Given the description of an element on the screen output the (x, y) to click on. 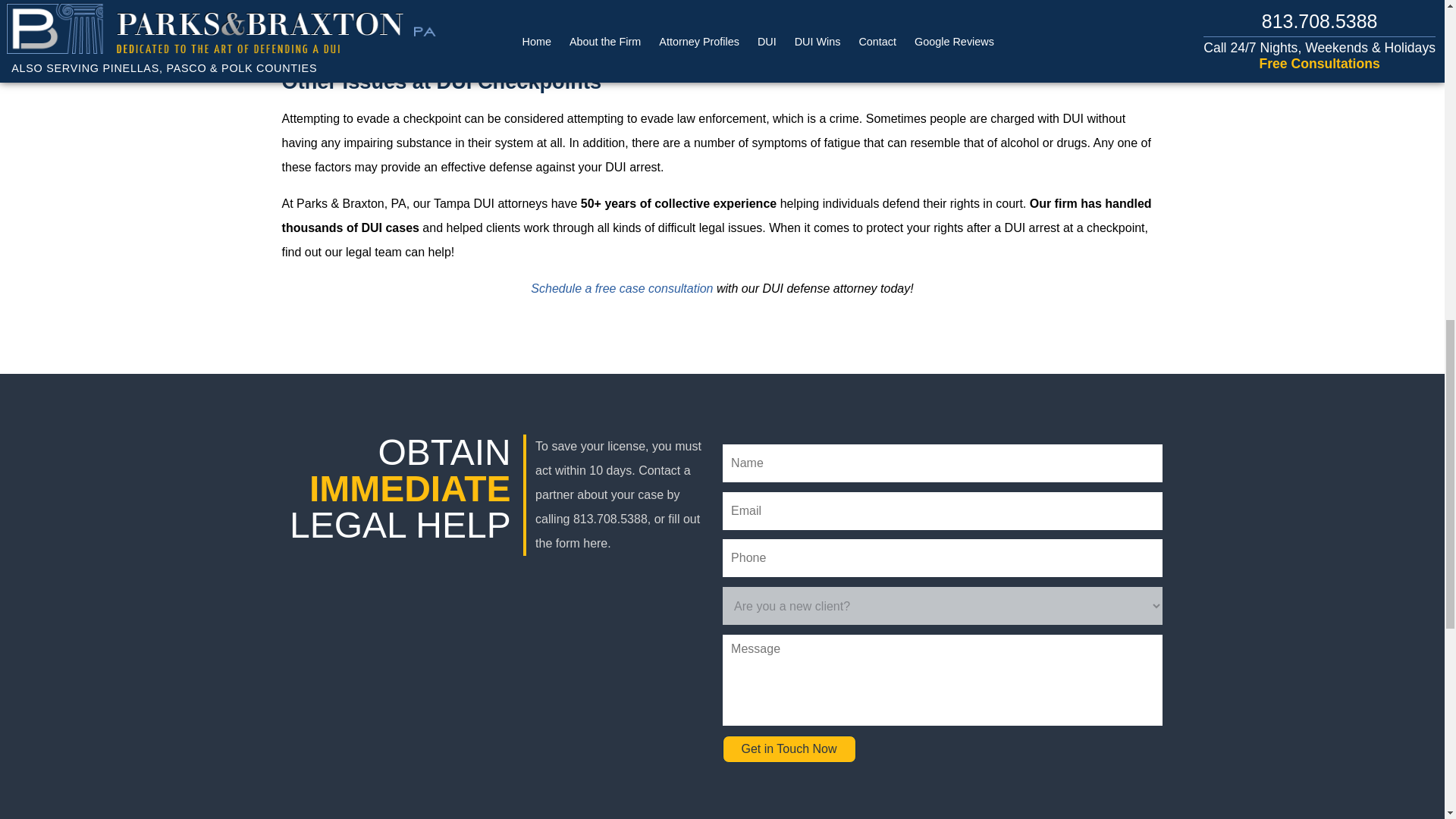
Get in Touch Now (789, 748)
Schedule a free case consultation (622, 287)
